Given the description of an element on the screen output the (x, y) to click on. 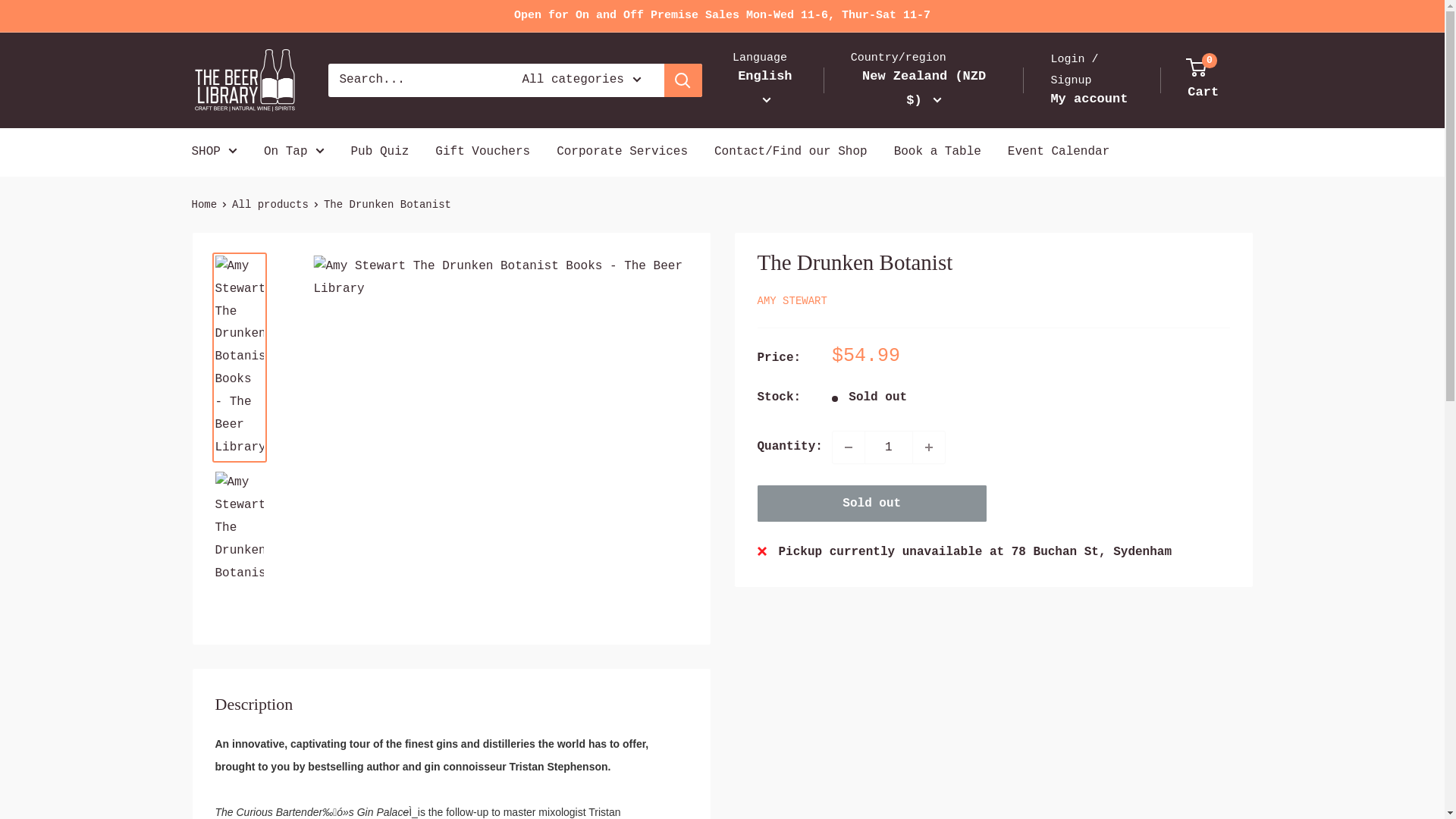
1 (888, 447)
Decrease quantity by 1 (848, 447)
Increase quantity by 1 (928, 447)
